Given the description of an element on the screen output the (x, y) to click on. 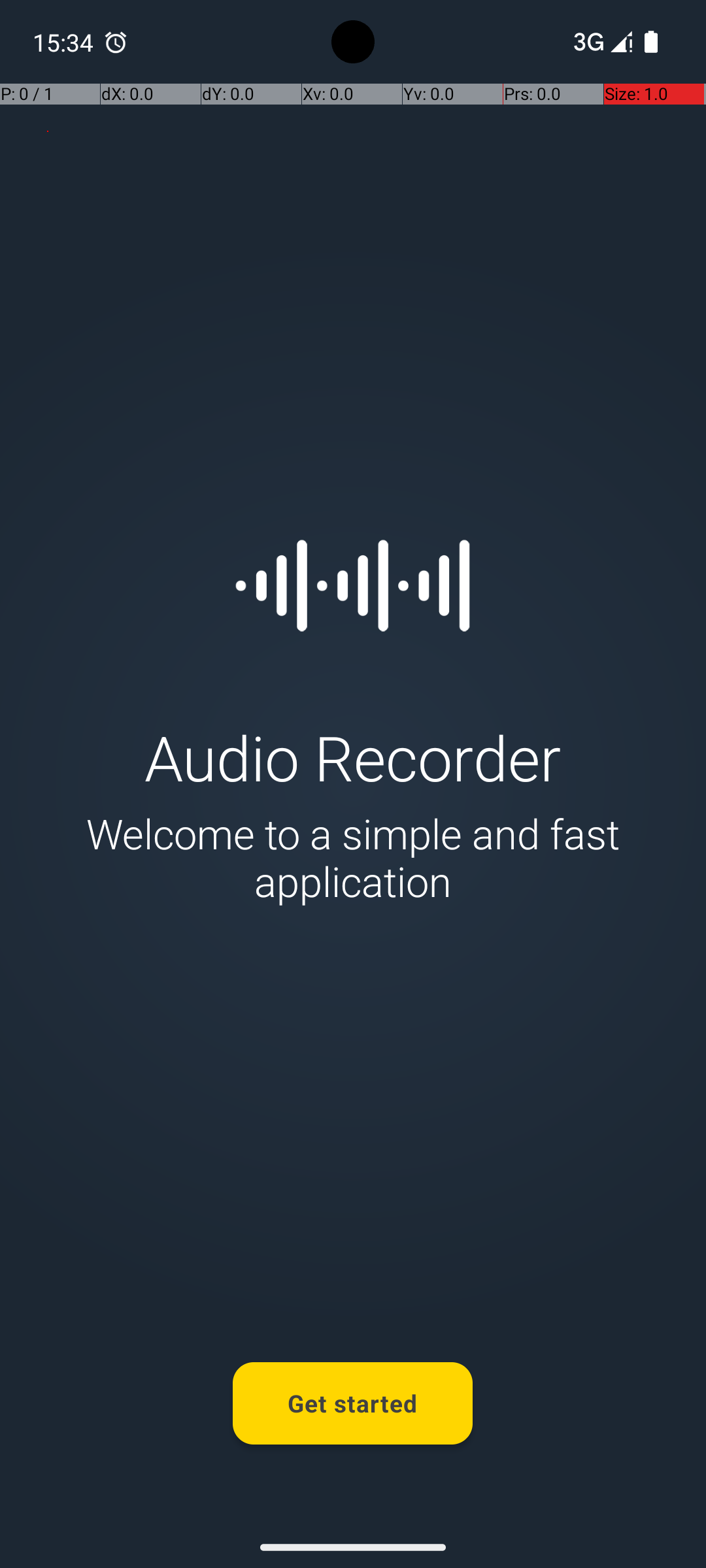
Clock notification: Missed alarm Element type: android.widget.ImageView (115, 41)
